Given the description of an element on the screen output the (x, y) to click on. 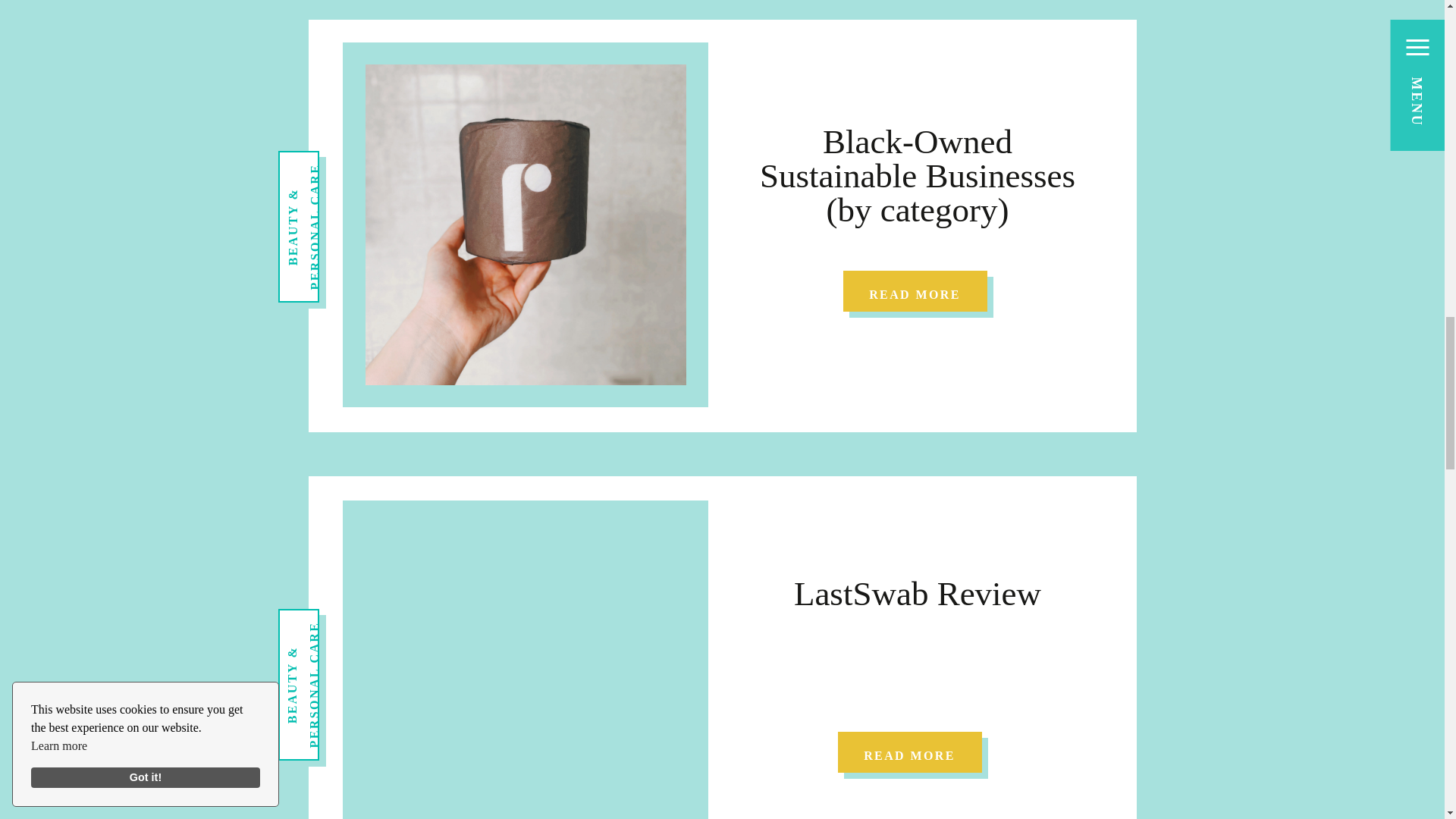
LastSwab Review (908, 752)
LastSwab Review (917, 593)
READ MORE (914, 291)
READ MORE (908, 752)
